Given the description of an element on the screen output the (x, y) to click on. 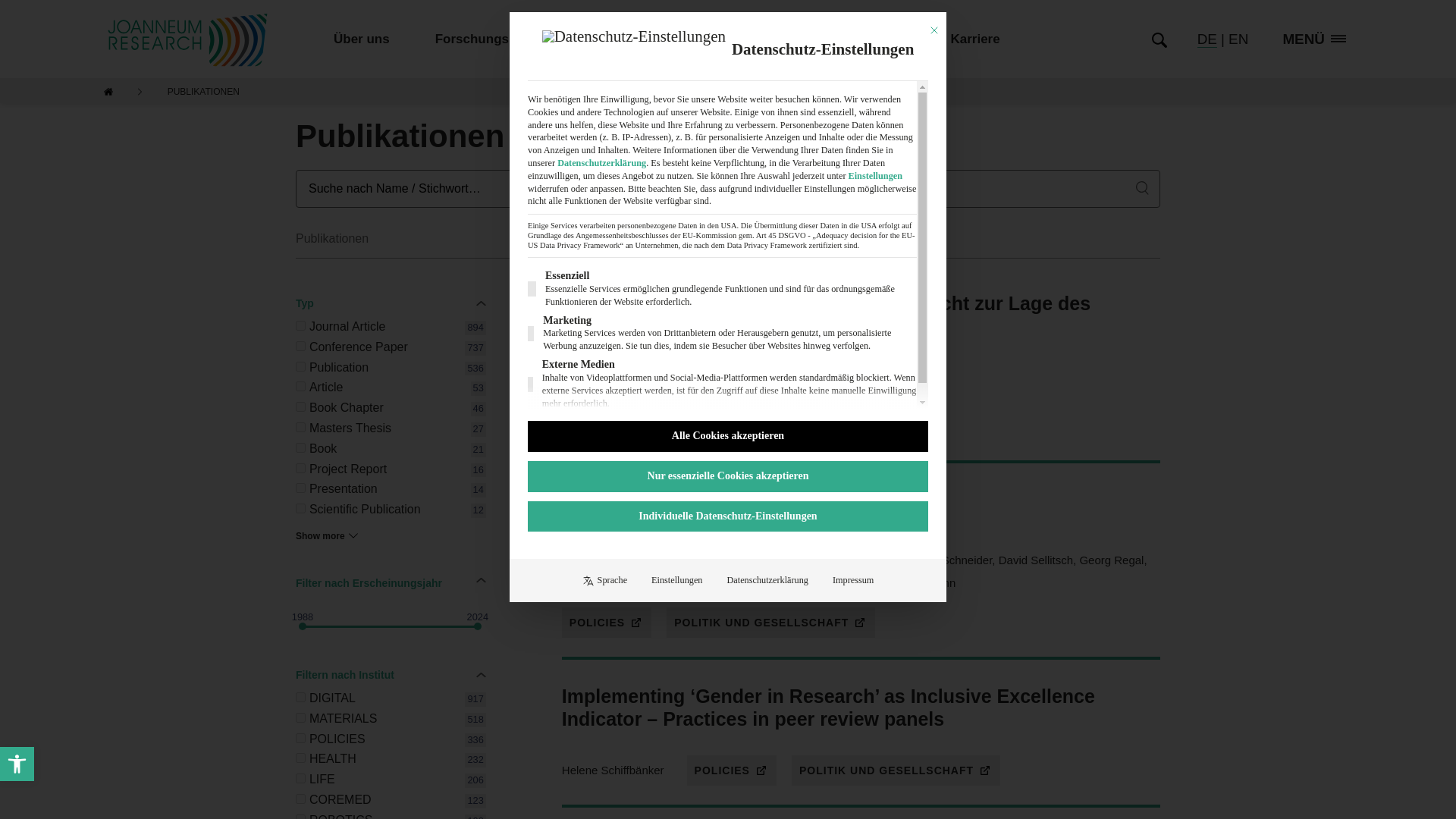
Presentation (300, 488)
Book Chapter (300, 406)
Health (300, 757)
Materials (16, 763)
Life (300, 717)
Publication (300, 777)
Barrierefreiheit (300, 366)
Project report (16, 763)
Article (300, 468)
Policies (300, 386)
Digital (300, 737)
Scientific publication (300, 696)
Barrierefreiheit (300, 508)
Journal Article (16, 763)
